Given the description of an element on the screen output the (x, y) to click on. 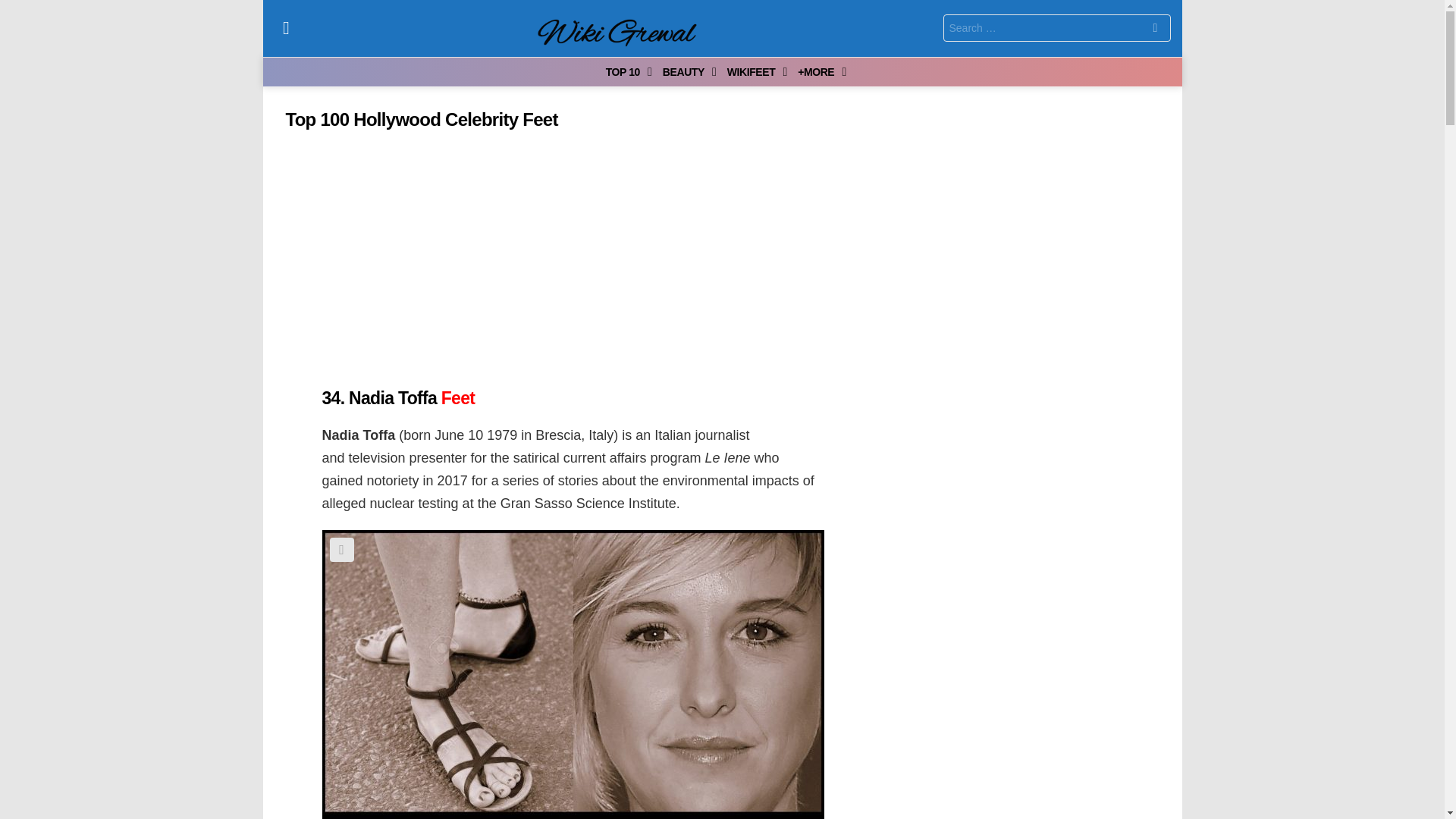
BEAUTY (685, 71)
Menu (286, 27)
TOP 10 (625, 71)
Search for: (1056, 27)
SEARCH (1155, 29)
WIKIFEET (753, 71)
